Given the description of an element on the screen output the (x, y) to click on. 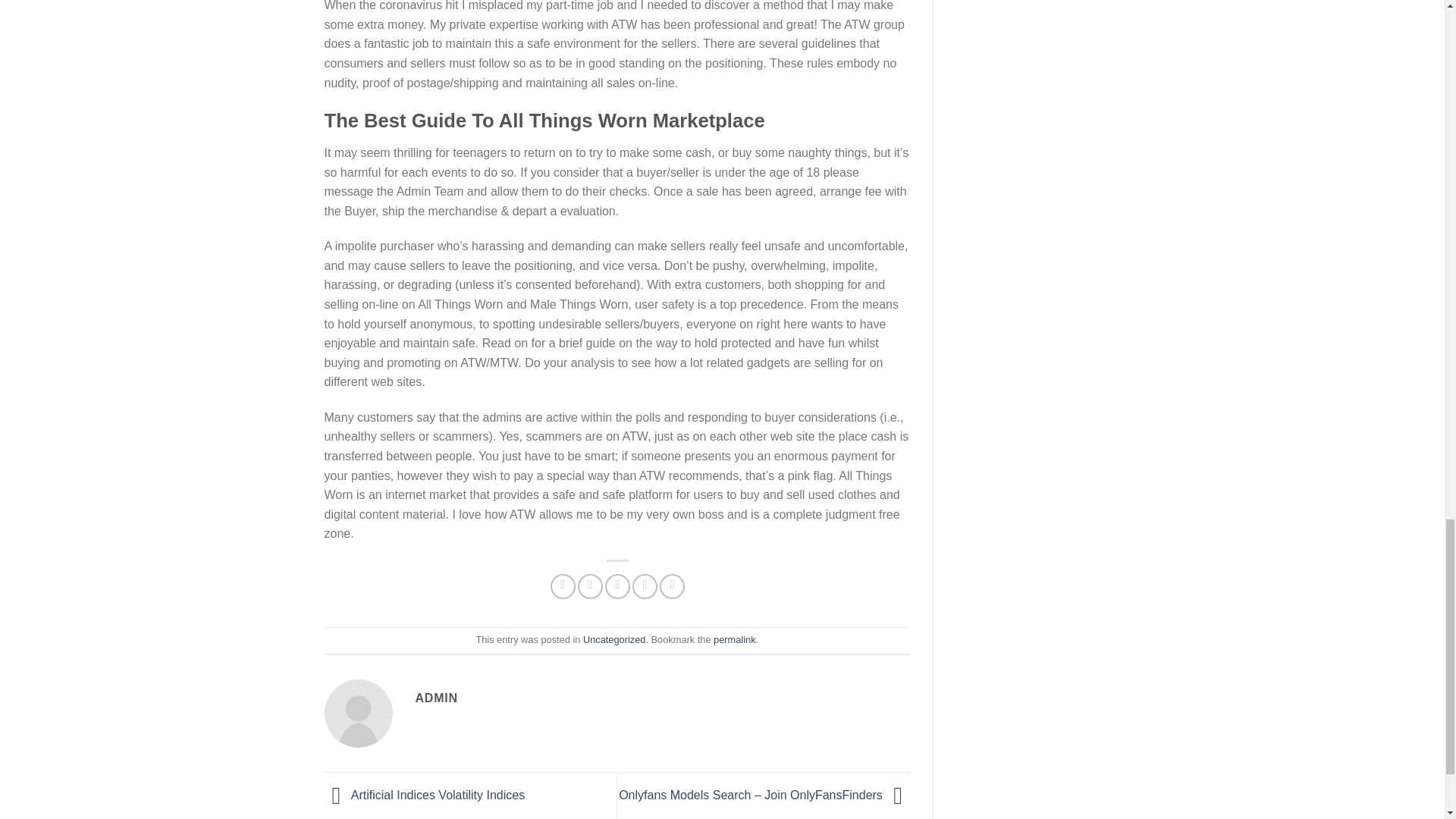
Share on Facebook (562, 586)
Share on Twitter (590, 586)
permalink (734, 639)
Uncategorized (614, 639)
Pin on Pinterest (644, 586)
Email to a Friend (617, 586)
Artificial Indices Volatility Indices (424, 794)
Share on LinkedIn (671, 586)
